Given the description of an element on the screen output the (x, y) to click on. 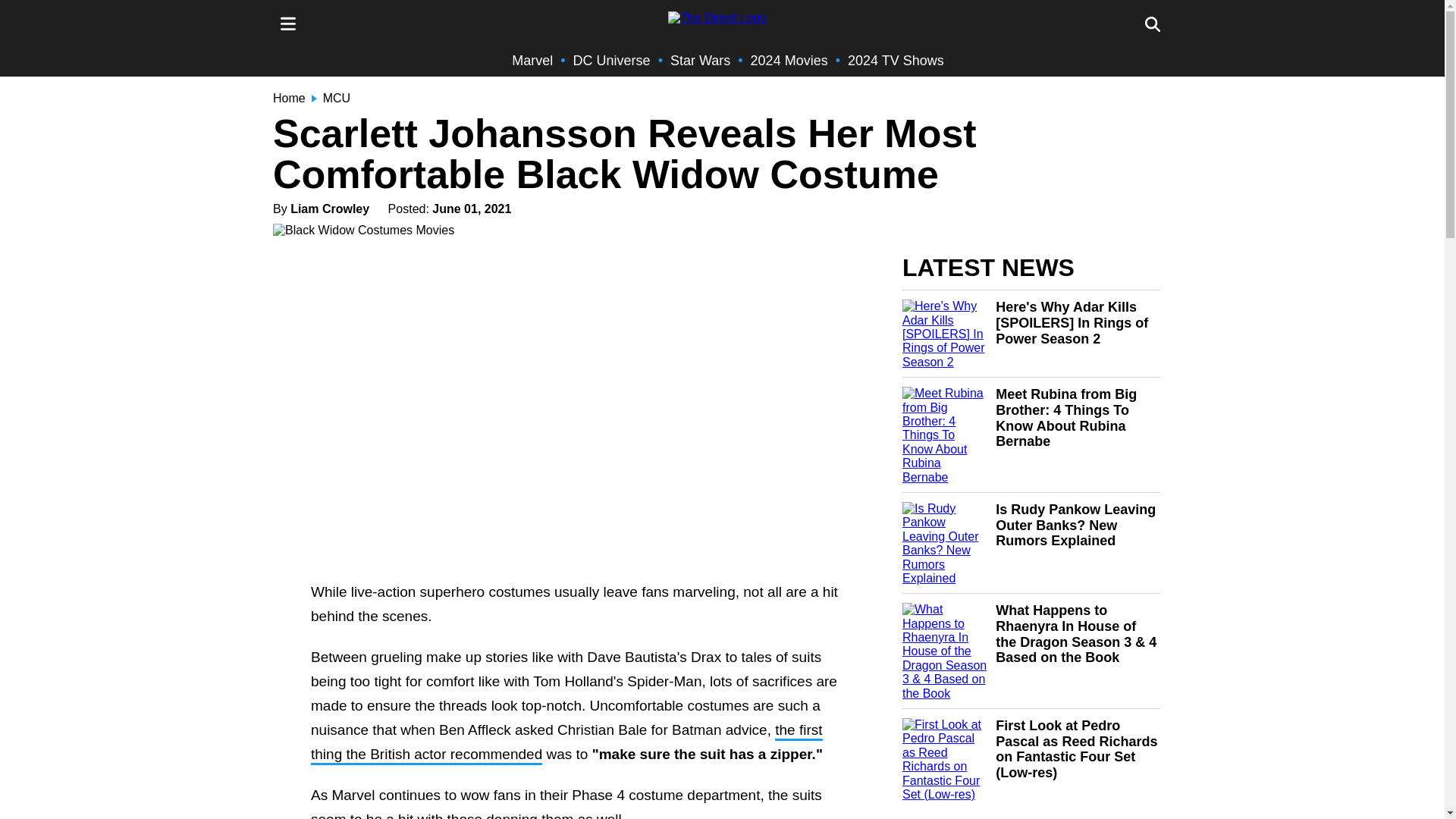
Marvel (532, 60)
2024 TV Shows (895, 60)
2024 Movies (789, 60)
DC Universe (611, 60)
Star Wars (699, 60)
